Given the description of an element on the screen output the (x, y) to click on. 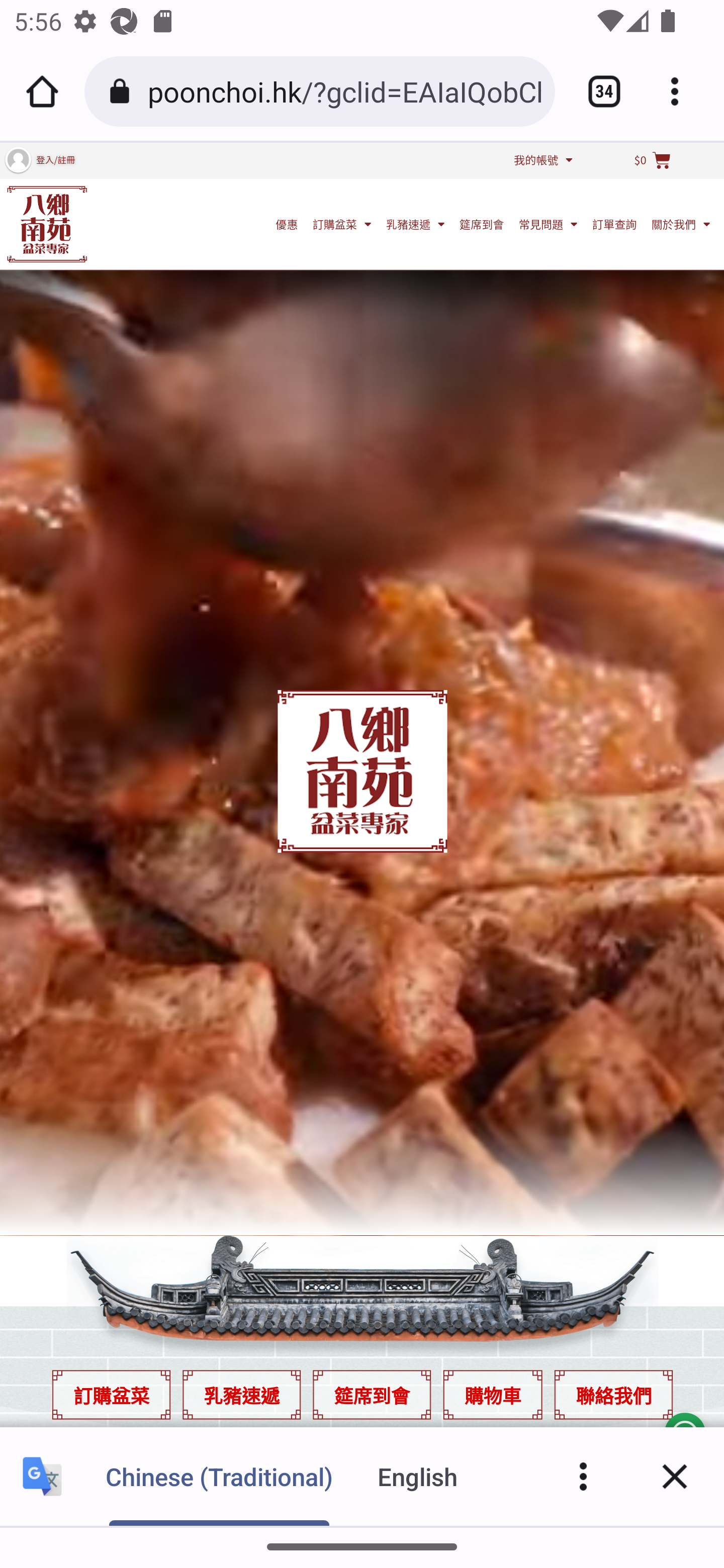
Home (42, 91)
Connection is secure (122, 91)
Switch or close tabs (597, 91)
More options (681, 91)
$0  購物籃 $ 0  (652, 159)
我的帳號  我的帳號  (543, 159)
my-account (17, 158)
登入/註冊 (55, 159)
www.poonchoi (46, 223)
訂購盆菜  訂購盆菜  (341, 223)
乳豬速遞  乳豬速遞  (414, 223)
筵席到會 (481, 223)
常見問題  常見問題  (547, 223)
訂單查詢 (614, 223)
關於我們  關於我們  (680, 223)
訂購盆菜 (111, 1394)
乳豬速遞 (241, 1394)
筵席到會 (372, 1394)
購物車 (492, 1394)
聯絡我們 (613, 1394)
English (417, 1475)
More options (582, 1475)
Close (674, 1475)
